Given the description of an element on the screen output the (x, y) to click on. 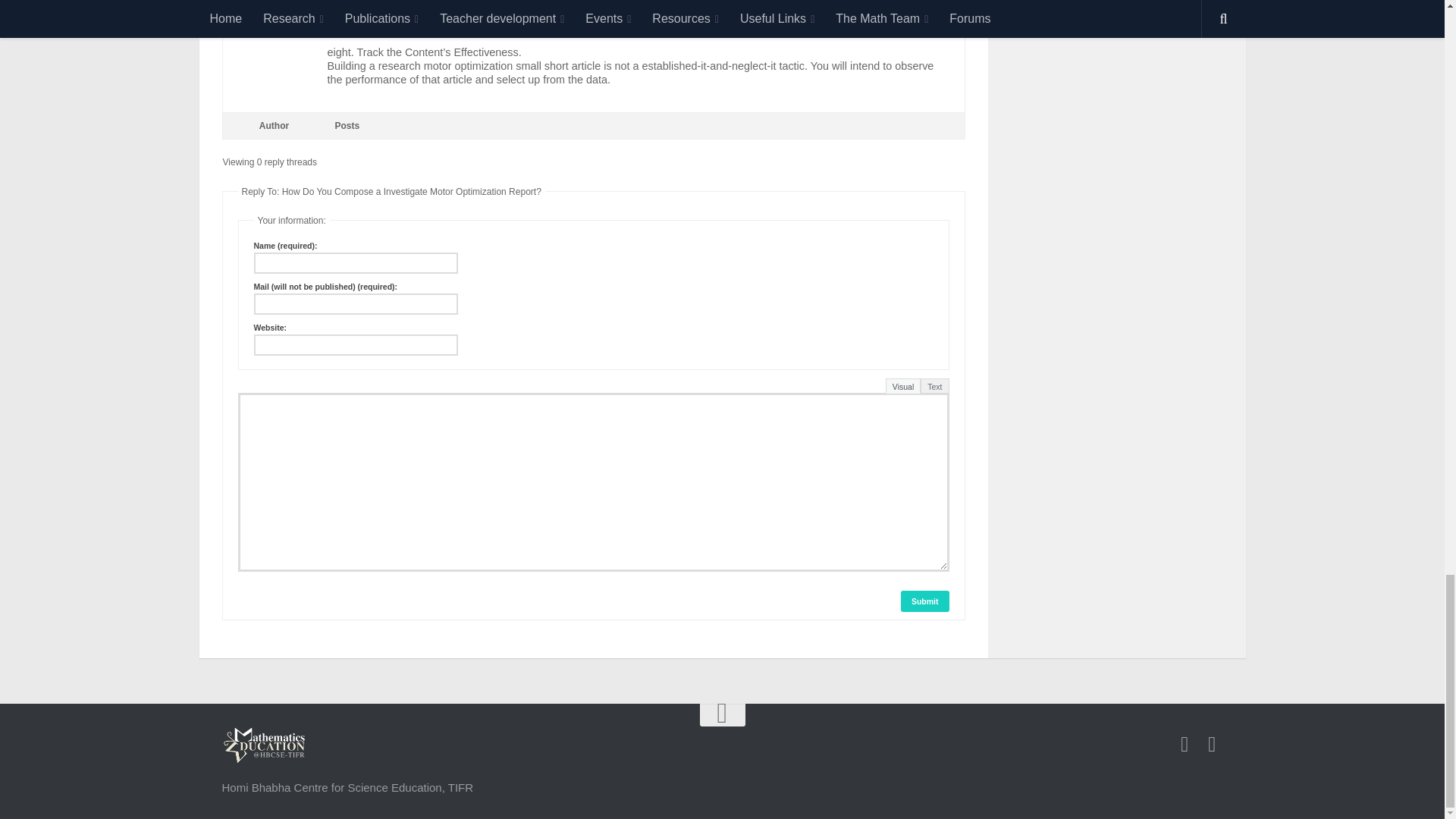
Facebook (1184, 744)
Twitter (1212, 744)
